Given the description of an element on the screen output the (x, y) to click on. 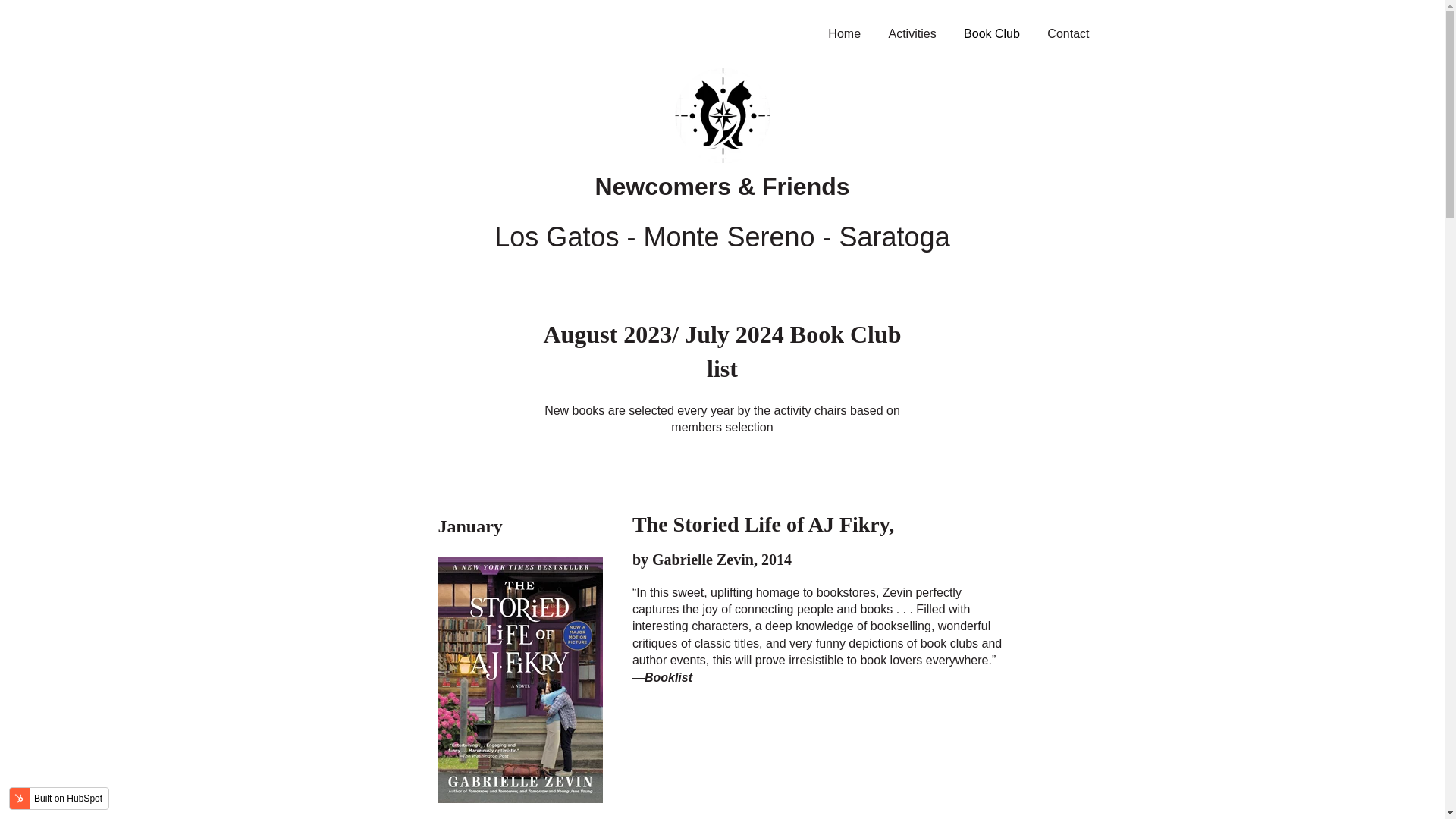
Final-Dall-e-logo-Cleaned (721, 114)
Home (844, 33)
Activities (912, 33)
Book Club (991, 33)
Contact (1067, 33)
